Given the description of an element on the screen output the (x, y) to click on. 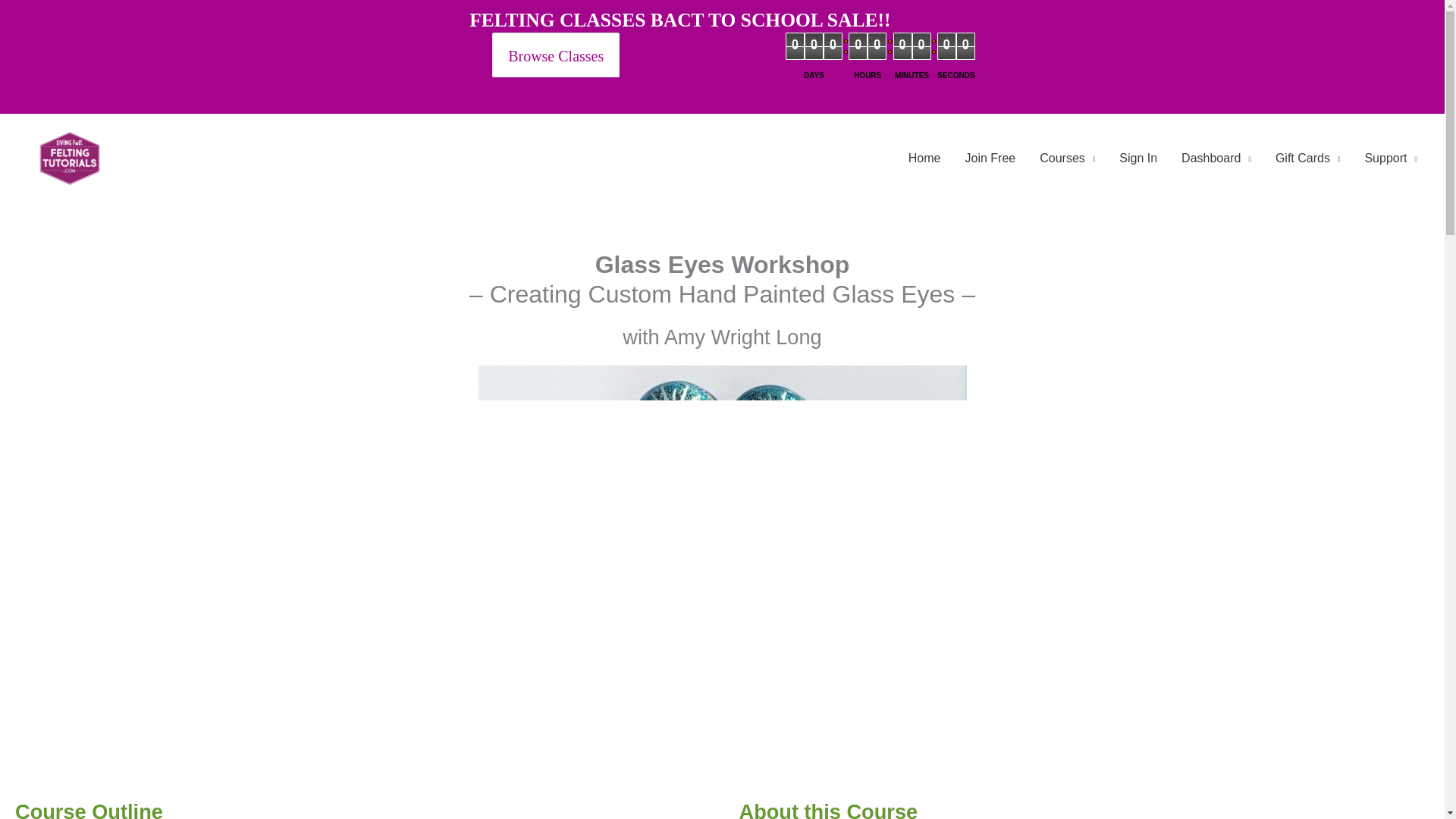
Courses (1066, 158)
Gift Cards (1307, 158)
Dashboard (1216, 158)
Support (1390, 158)
Browse Classes (556, 54)
Sign In (1137, 158)
Home (924, 158)
Browse Classes (544, 42)
Join Free (989, 158)
